Given the description of an element on the screen output the (x, y) to click on. 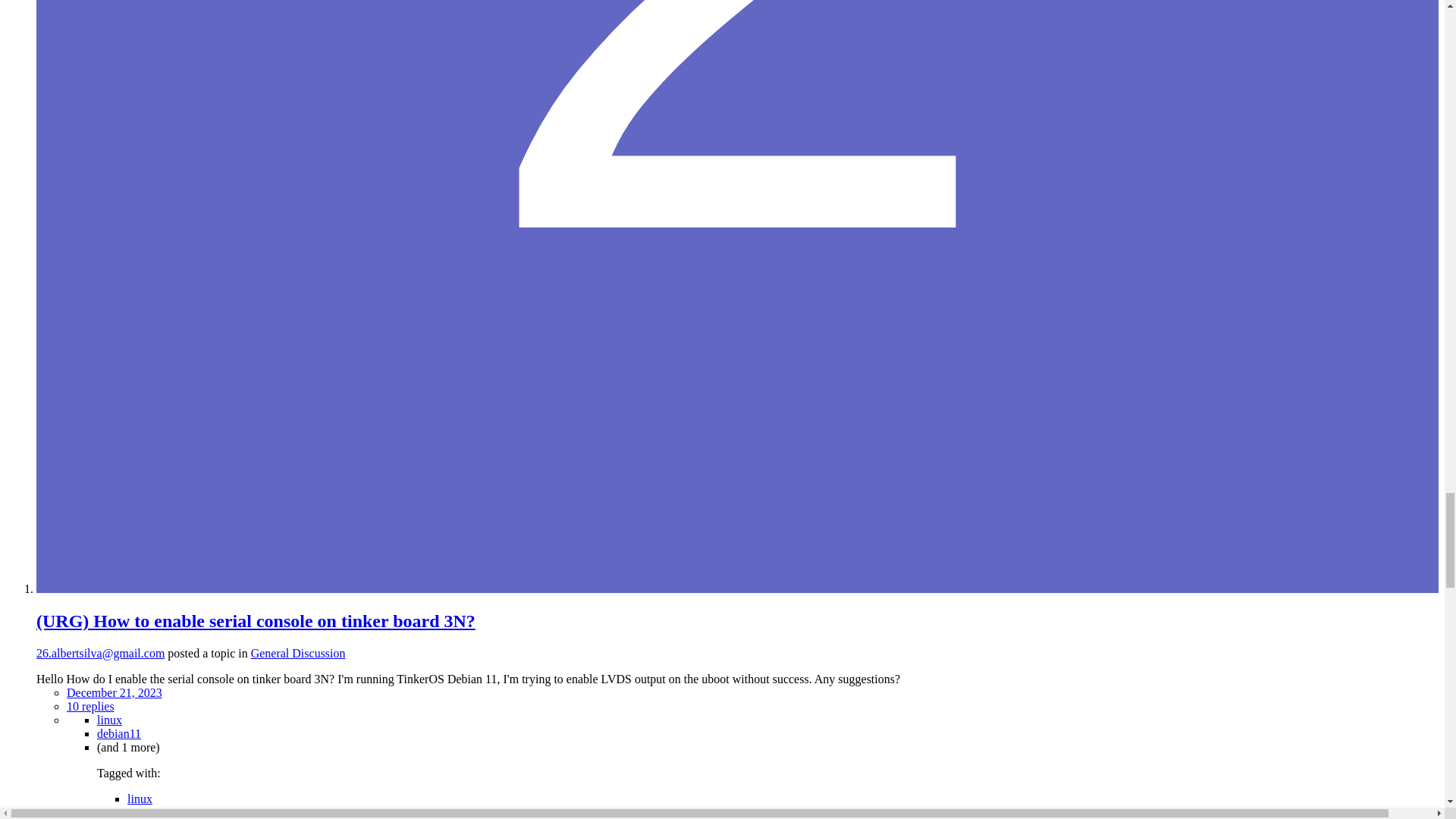
Find other content tagged with 'linux' (140, 798)
Find other content tagged with 'debian11' (149, 812)
Find other content tagged with 'linux' (109, 719)
Find other content tagged with 'debian11' (119, 733)
